Given the description of an element on the screen output the (x, y) to click on. 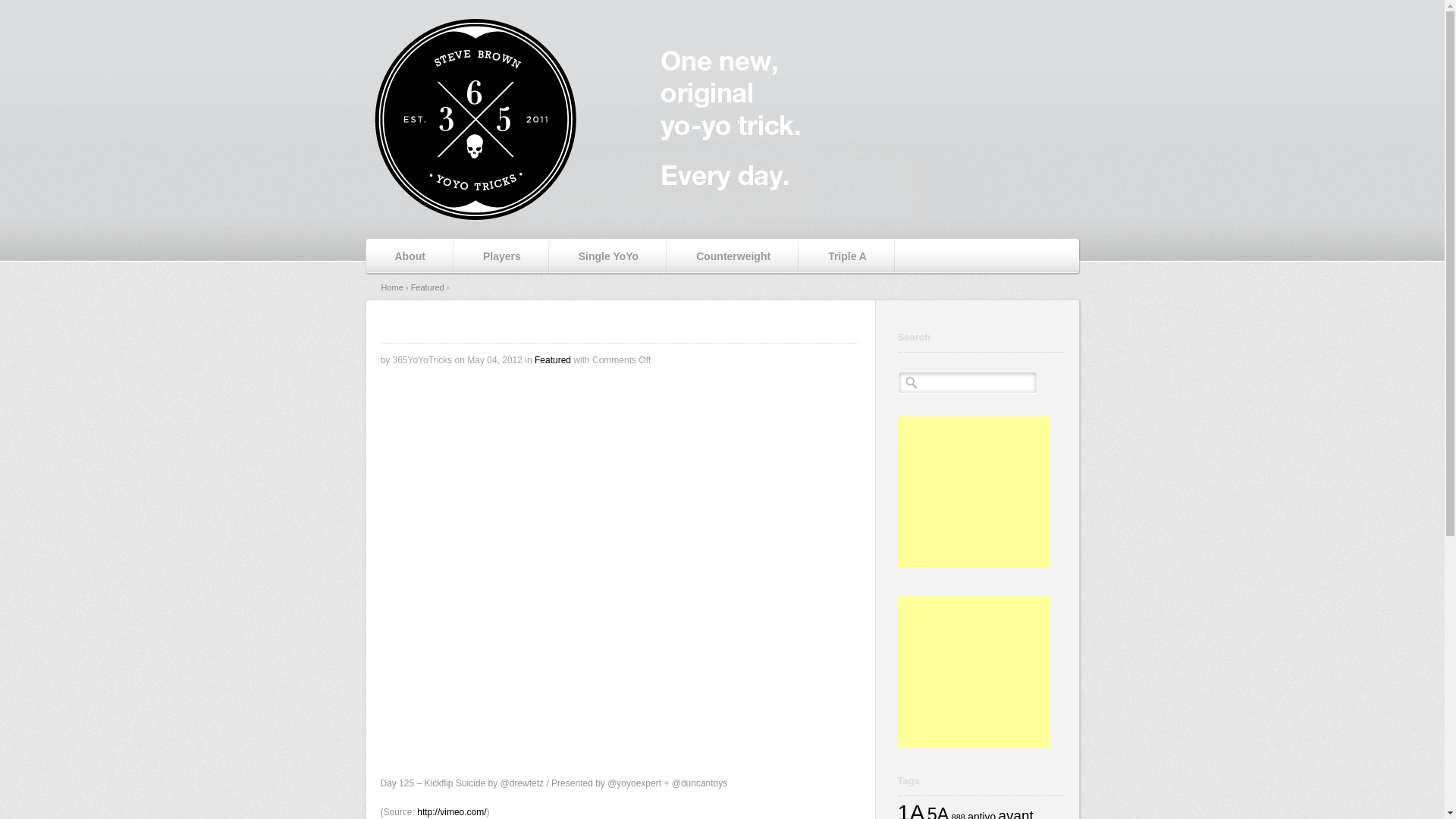
Counterweight Element type: text (733, 255)
365yoyotricks.com - 5/4/12 - Kickflip Suicide Element type: hover (721, 565)
Single YoYo Element type: text (608, 255)
Advertisement Element type: hover (973, 491)
Triple A Element type: text (847, 255)
Advertisement Element type: hover (973, 670)
Search Element type: text (25, 14)
http://vimeo.com/ Element type: text (451, 811)
About Element type: text (409, 255)
Players Element type: text (501, 255)
Home Element type: text (391, 286)
Featured Element type: text (427, 286)
Featured Element type: text (552, 359)
